Given the description of an element on the screen output the (x, y) to click on. 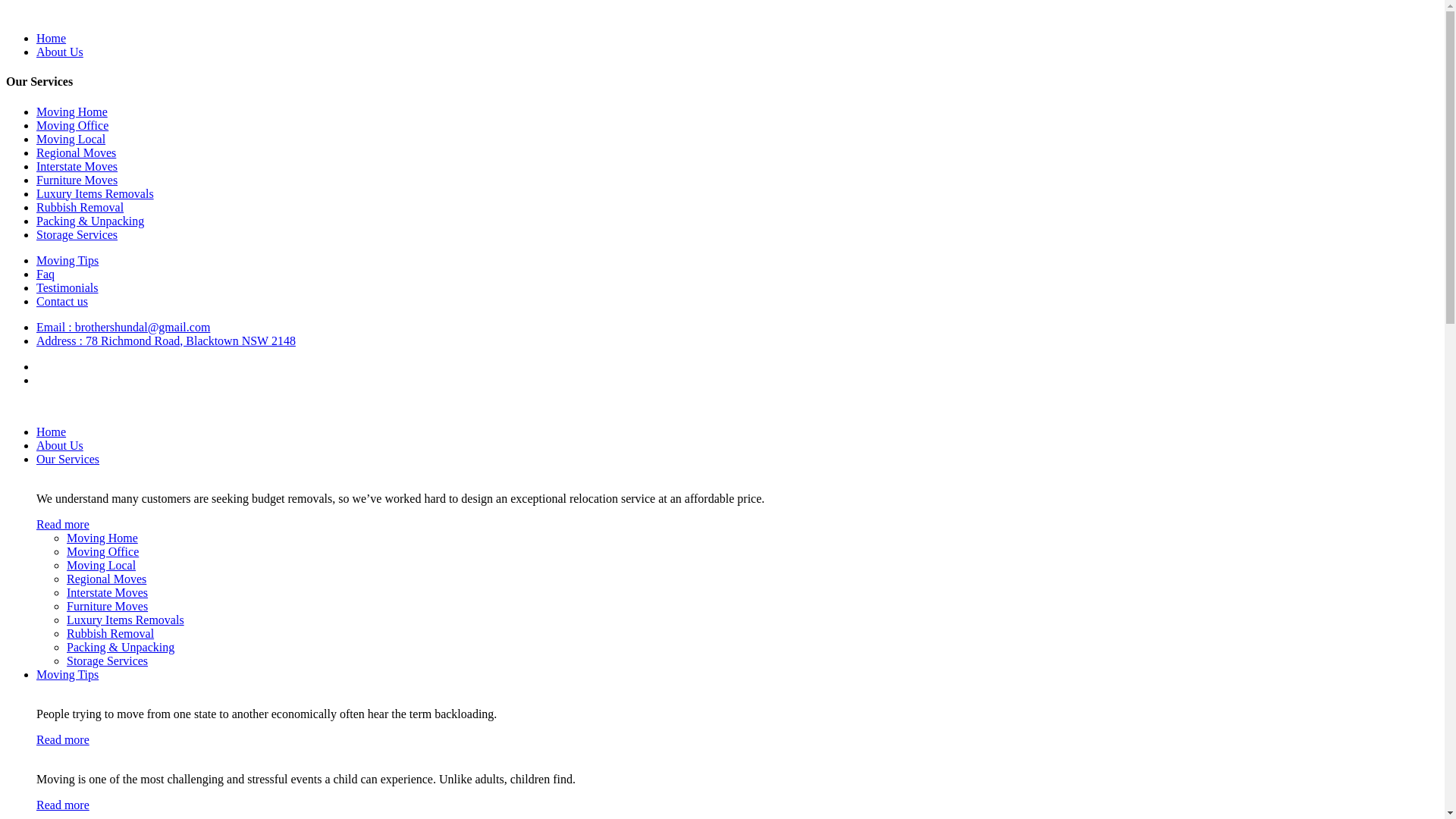
Address : 78 Richmond Road, Blacktown NSW 2148 Element type: text (165, 340)
Faq Element type: text (45, 273)
Read more Element type: text (62, 523)
Home Element type: text (50, 431)
Moving Local Element type: text (100, 564)
Regional Moves Element type: text (76, 152)
Moving Home Element type: text (71, 111)
Contact us Element type: text (61, 300)
Read more Element type: text (62, 804)
Rubbish Removal Element type: text (109, 633)
Moving Office Element type: text (102, 551)
Luxury Items Removals Element type: text (125, 619)
Testimonials Element type: text (67, 287)
Packing & Unpacking Element type: text (120, 646)
Moving Office Element type: text (72, 125)
About Us Element type: text (59, 445)
Rubbish Removal Element type: text (79, 206)
Our Services Element type: text (67, 458)
Moving Tips Element type: text (67, 674)
Moving Local Element type: text (70, 138)
Moving Tips Element type: text (67, 260)
About Us Element type: text (59, 51)
Interstate Moves Element type: text (76, 166)
Email : brothershundal@gmail.com Element type: text (123, 326)
Furniture Moves Element type: text (106, 605)
Furniture Moves Element type: text (76, 179)
Storage Services Element type: text (76, 234)
Storage Services Element type: text (106, 660)
Interstate Moves Element type: text (106, 592)
Moving Home Element type: text (102, 537)
Home Element type: text (50, 37)
Luxury Items Removals Element type: text (94, 193)
Packing & Unpacking Element type: text (90, 220)
Regional Moves Element type: text (106, 578)
Read more Element type: text (62, 739)
